Given the description of an element on the screen output the (x, y) to click on. 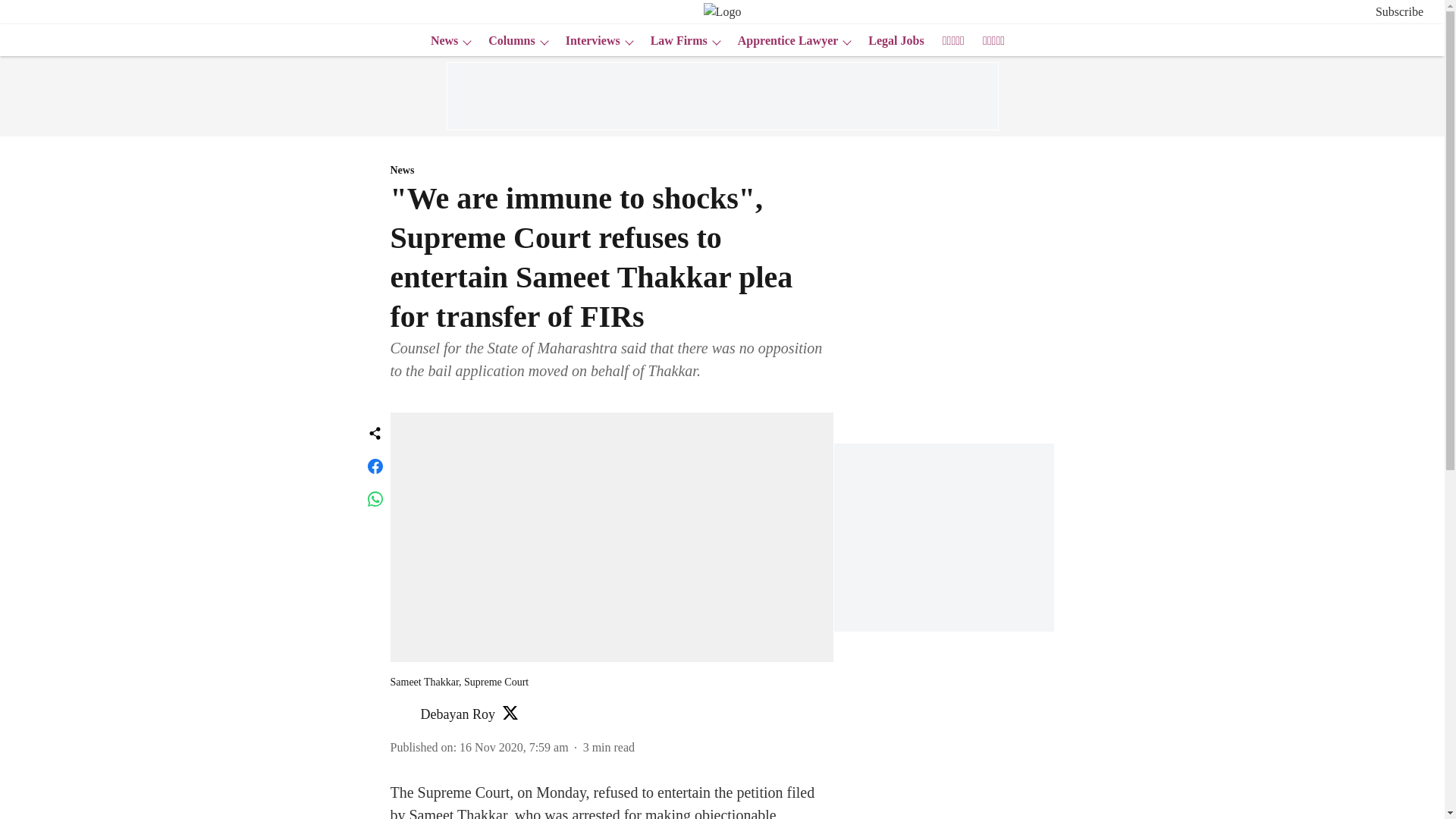
Apprentice Lawyer (783, 40)
Interviews (588, 40)
2020-11-16 07:59 (514, 746)
News (611, 170)
Debayan Roy (457, 713)
Legal Jobs (891, 40)
News (440, 40)
Law Firms (674, 40)
Columns (506, 40)
